Given the description of an element on the screen output the (x, y) to click on. 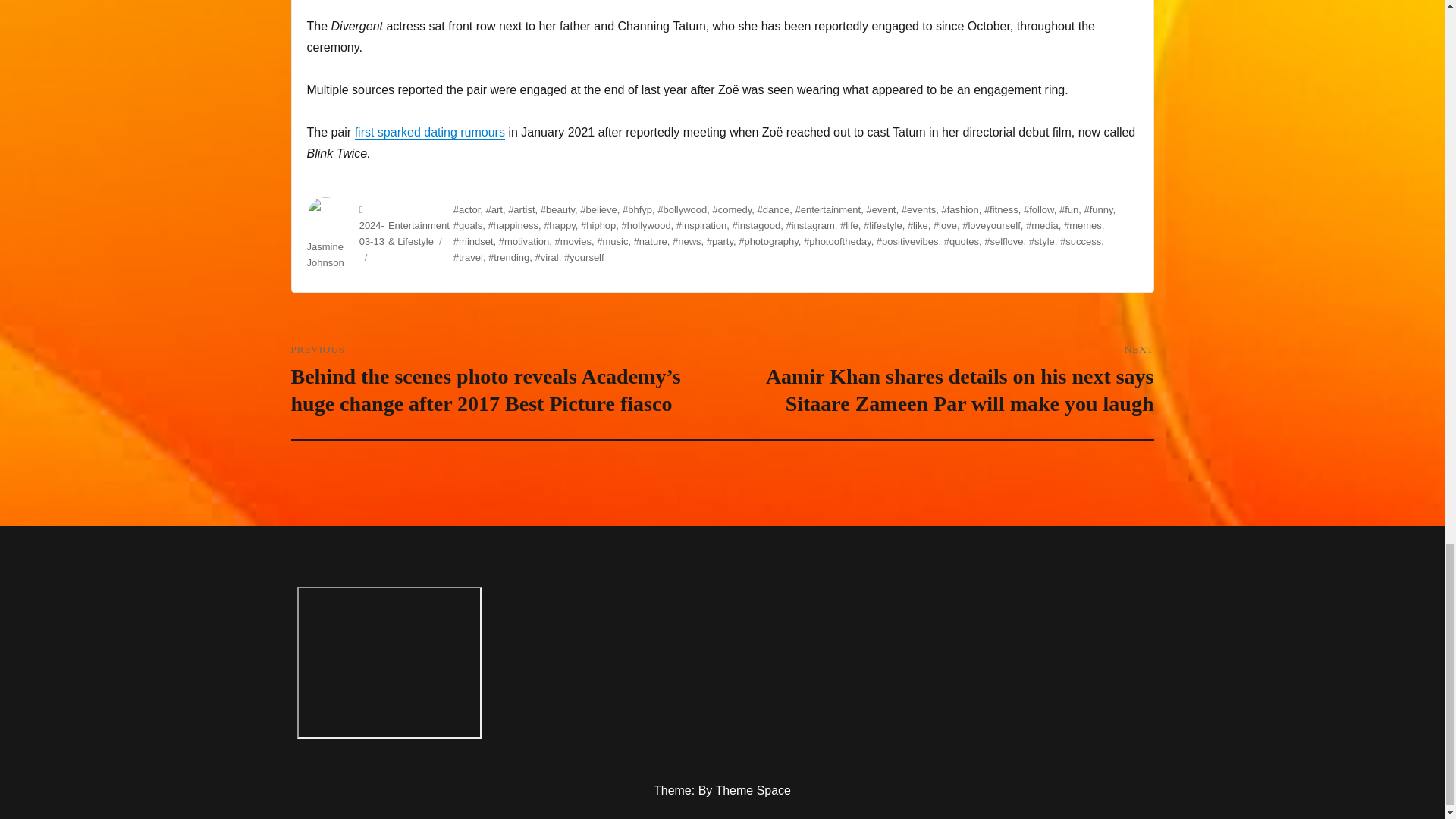
first sparked dating rumours (430, 132)
amazing (389, 662)
2024-03-13 (371, 233)
Jasmine Johnson (324, 254)
